Given the description of an element on the screen output the (x, y) to click on. 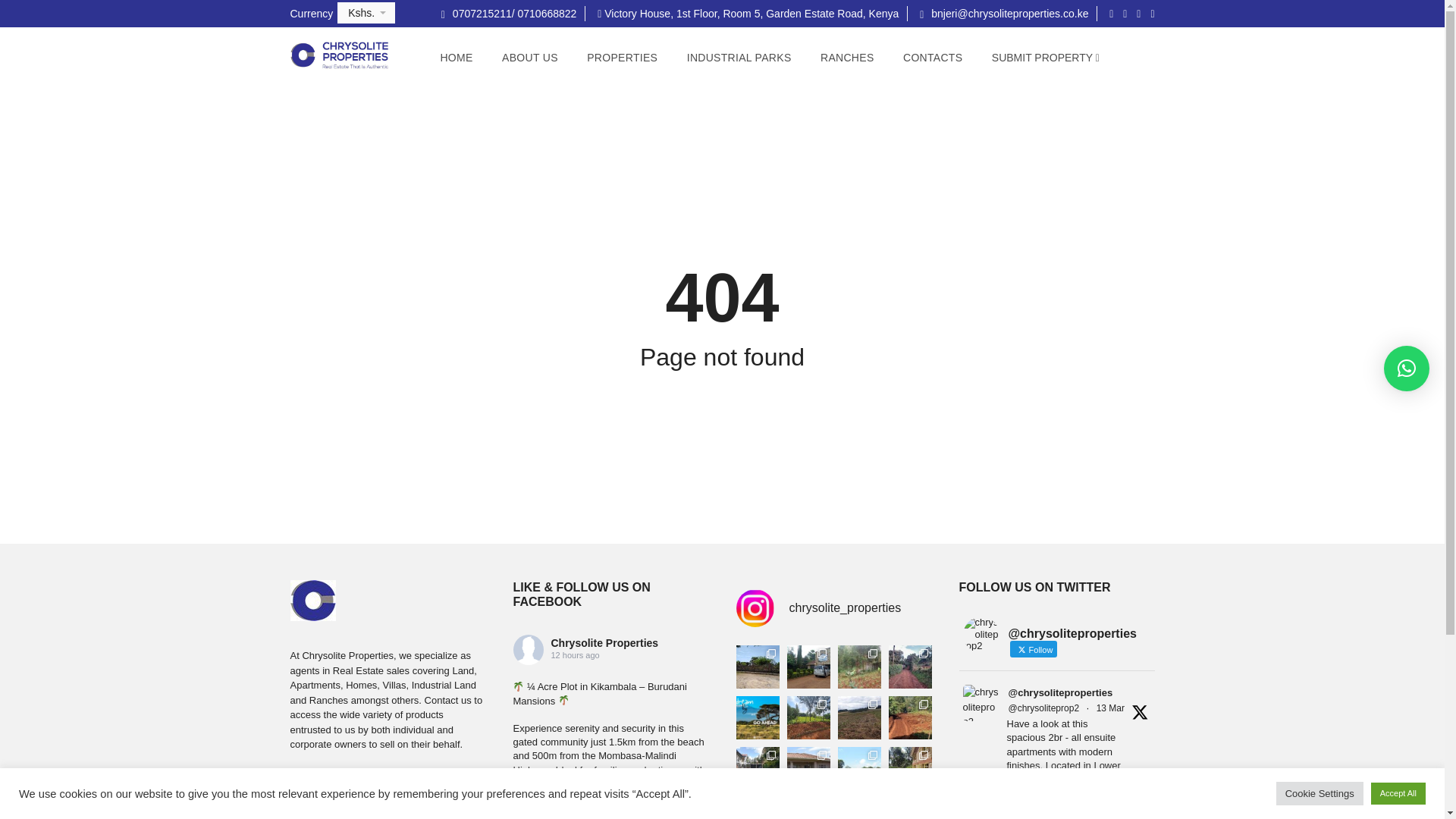
Kshs.   (365, 12)
INDUSTRIAL PARKS (739, 57)
PROPERTIES (622, 57)
Kshs. (365, 12)
SUBMIT PROPERTY (1045, 57)
ABOUT US (529, 57)
RANCHES (848, 57)
CONTACTS (932, 57)
Submit property (1045, 57)
HOME (455, 57)
Chrysolite Properties (604, 643)
